Given the description of an element on the screen output the (x, y) to click on. 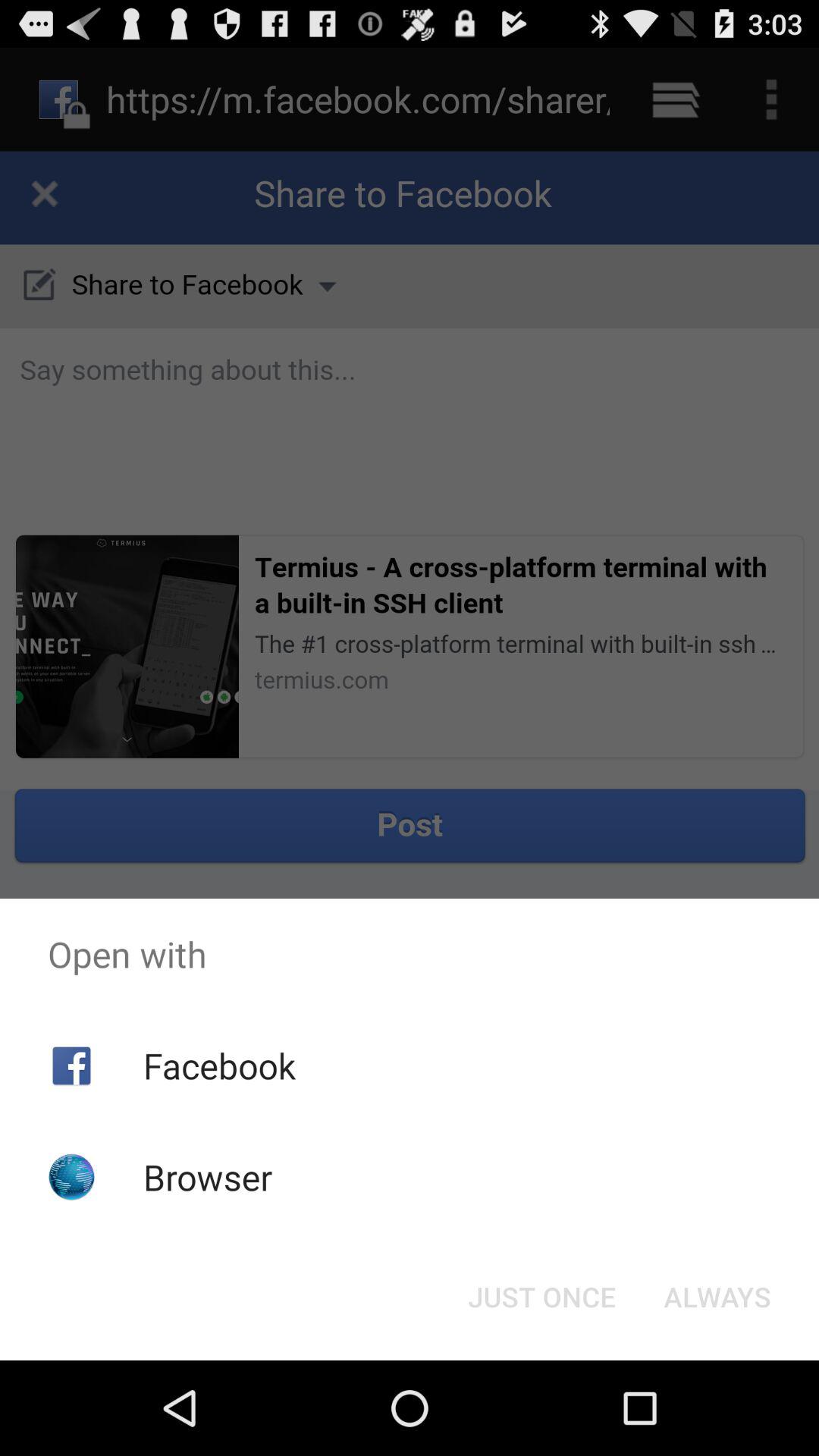
select the button next to just once button (717, 1296)
